Given the description of an element on the screen output the (x, y) to click on. 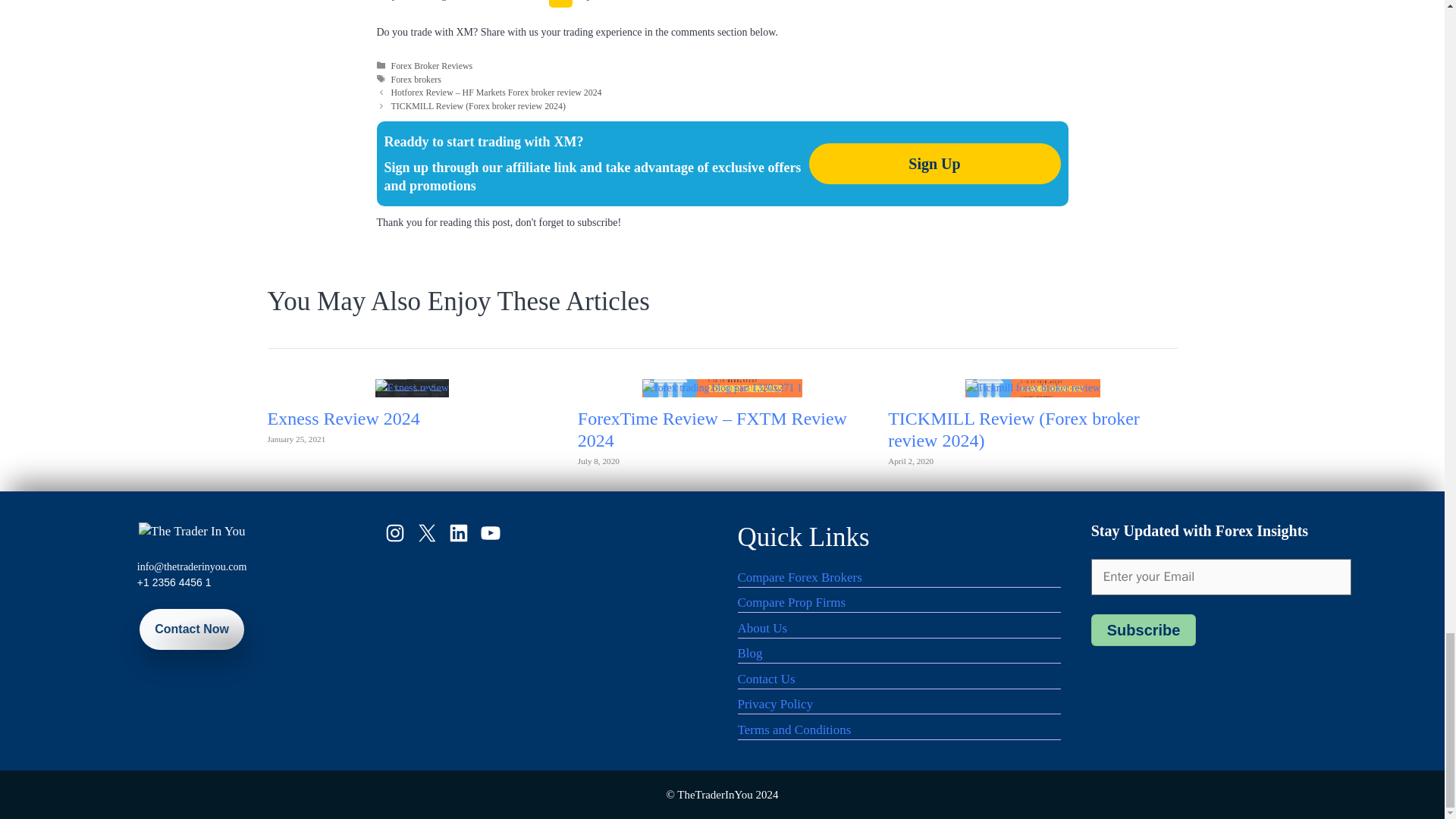
Subscribe (1143, 630)
Exness Review 2024 (411, 387)
9:56 am (295, 438)
xm (560, 3)
Exness Review 2024 4 (411, 388)
